Given the description of an element on the screen output the (x, y) to click on. 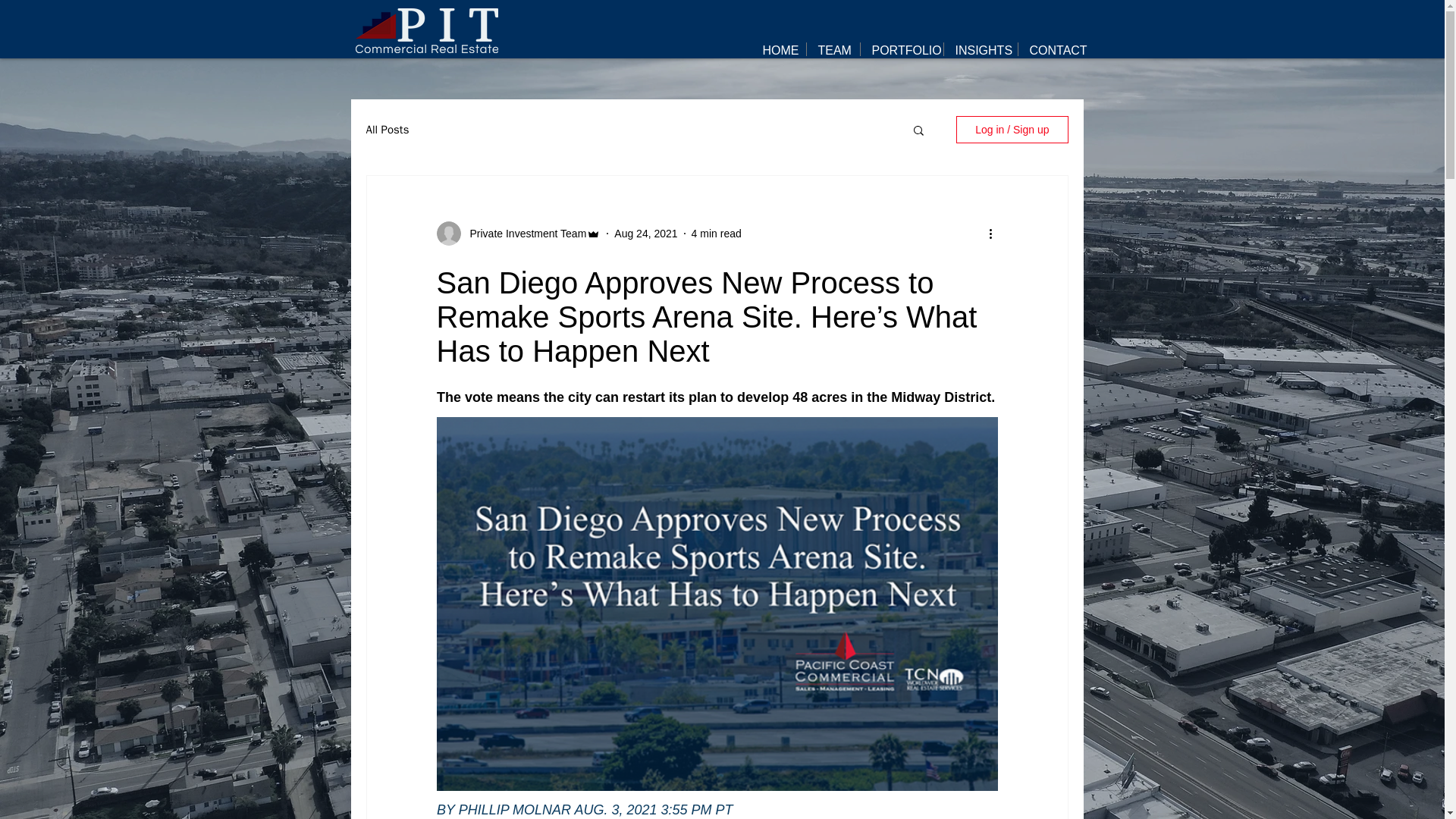
HOME (778, 49)
CONTACT (1052, 49)
4 min read (716, 233)
PORTFOLIO (901, 49)
All Posts (387, 129)
TEAM (833, 49)
INSIGHTS (979, 49)
Private Investment Team (523, 233)
Aug 24, 2021 (645, 233)
